Given the description of an element on the screen output the (x, y) to click on. 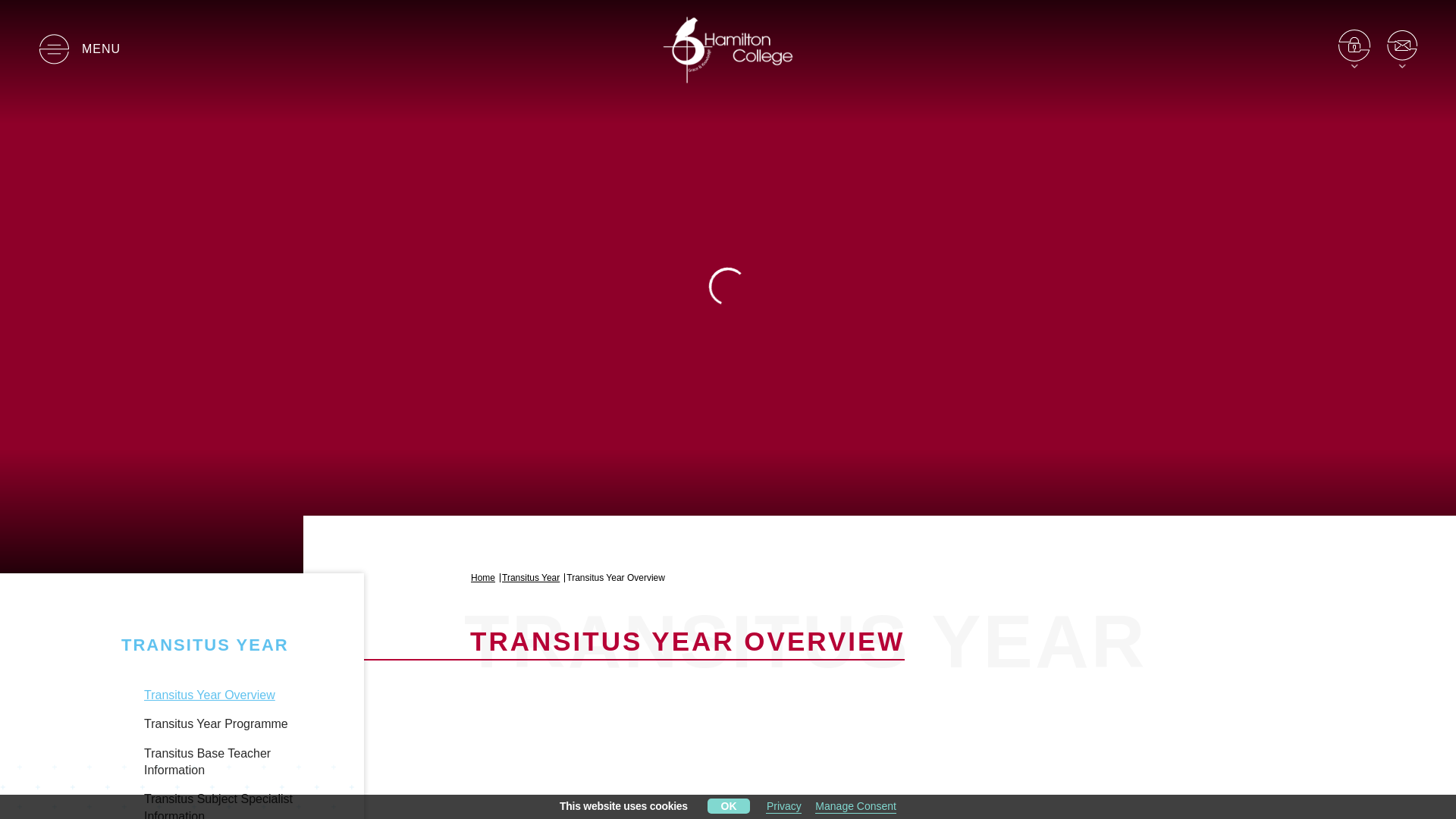
Main Menu (78, 48)
Hamilton College (727, 49)
